Given the description of an element on the screen output the (x, y) to click on. 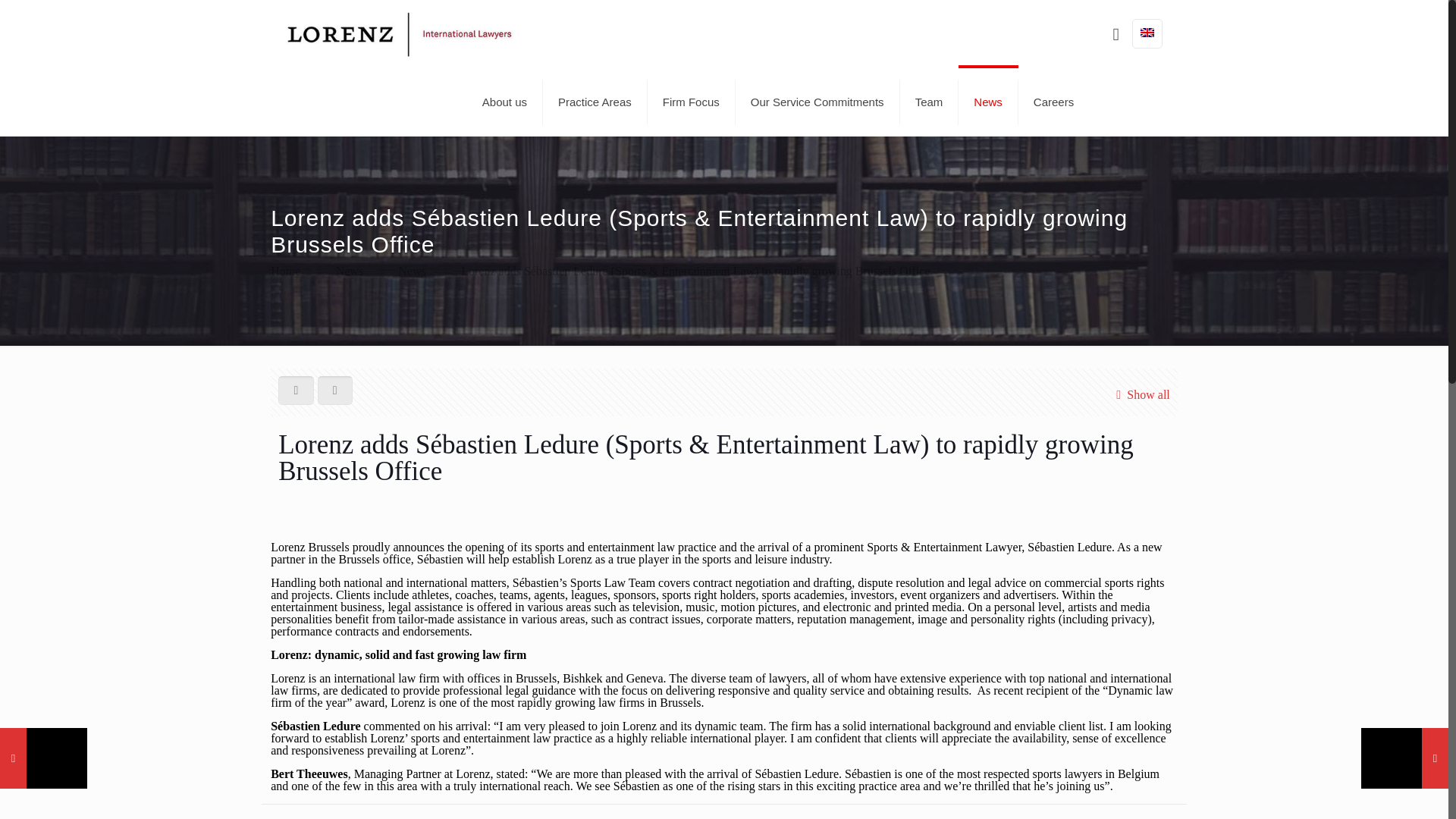
Firm Focus (691, 101)
Practice Areas (595, 101)
About us (505, 101)
Lorenz (399, 33)
